Given the description of an element on the screen output the (x, y) to click on. 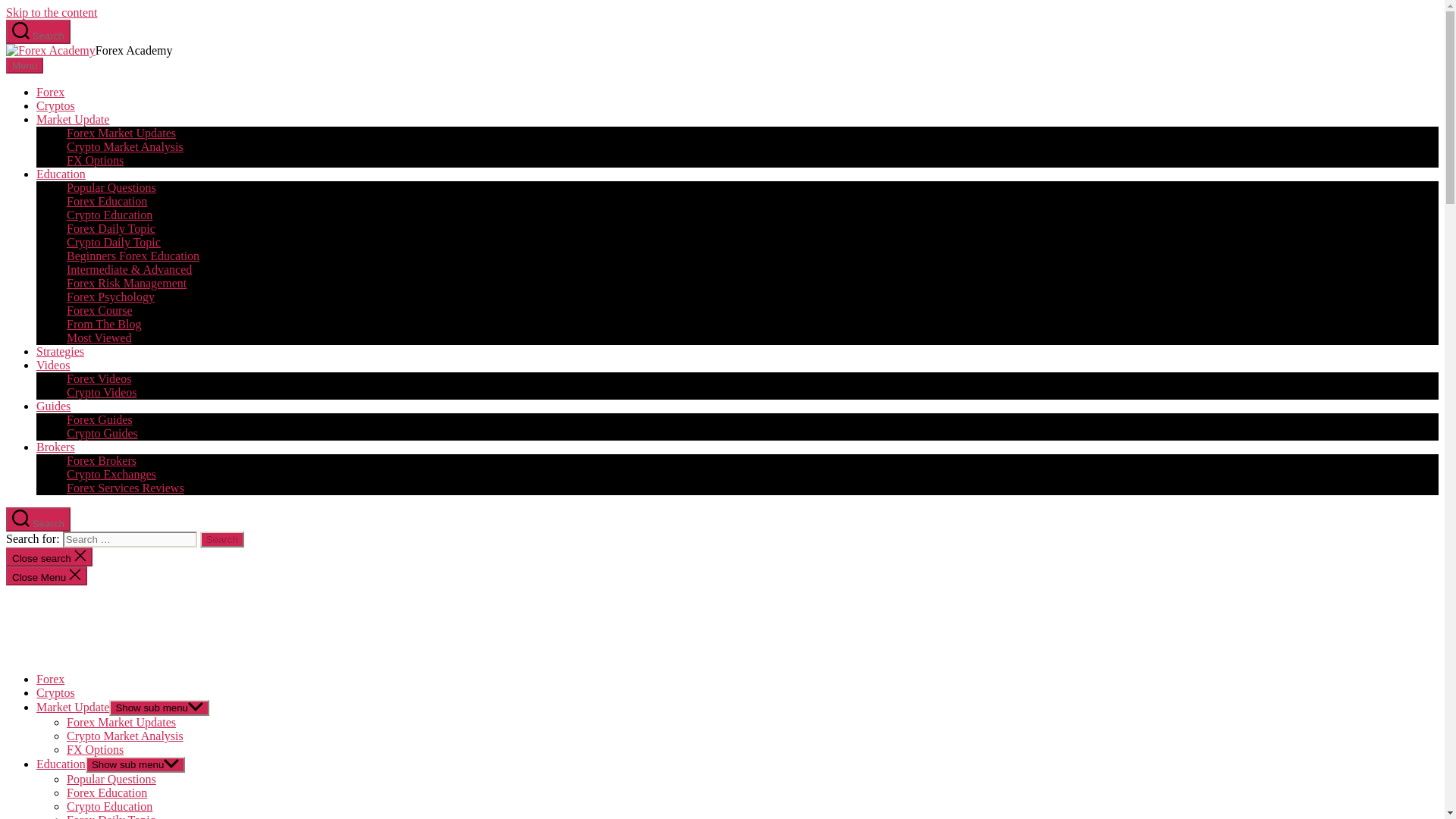
Close search (49, 556)
Close Menu (46, 575)
Videos (52, 364)
Forex (50, 91)
Forex (50, 678)
Crypto Videos (101, 391)
Forex Daily Topic (110, 228)
Skip to the content (51, 11)
Popular Questions (110, 187)
FX Options (94, 160)
